Given the description of an element on the screen output the (x, y) to click on. 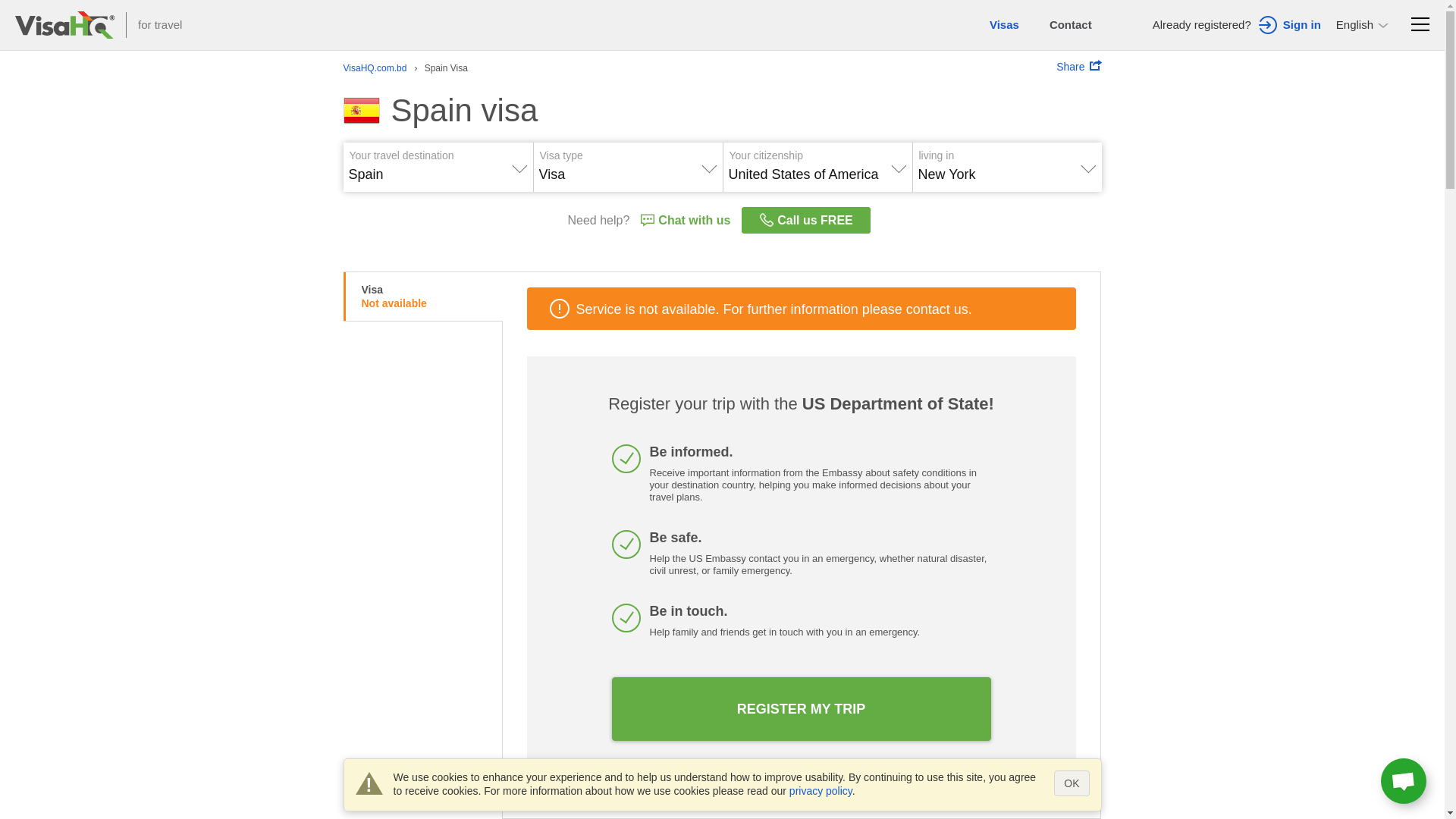
Visas Element type: text (1004, 24)
VisaHQ.com.bd Element type: text (374, 68)
REGISTER MY TRIP Element type: text (800, 708)
Contact Element type: text (1070, 24)
Chat with us Element type: text (685, 219)
privacy policy Element type: text (820, 790)
Passport and Visa Services Element type: hover (64, 24)
